Given the description of an element on the screen output the (x, y) to click on. 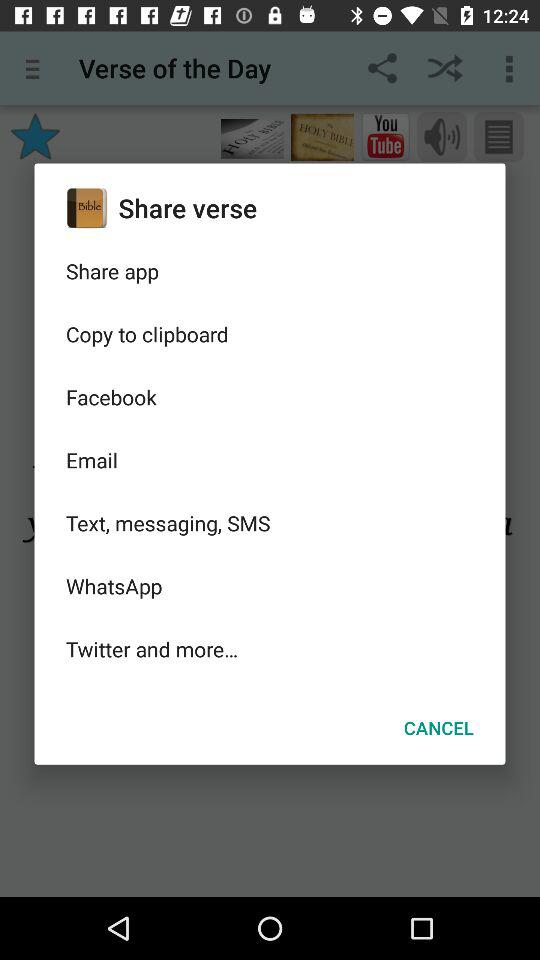
scroll to the cancel icon (438, 727)
